Given the description of an element on the screen output the (x, y) to click on. 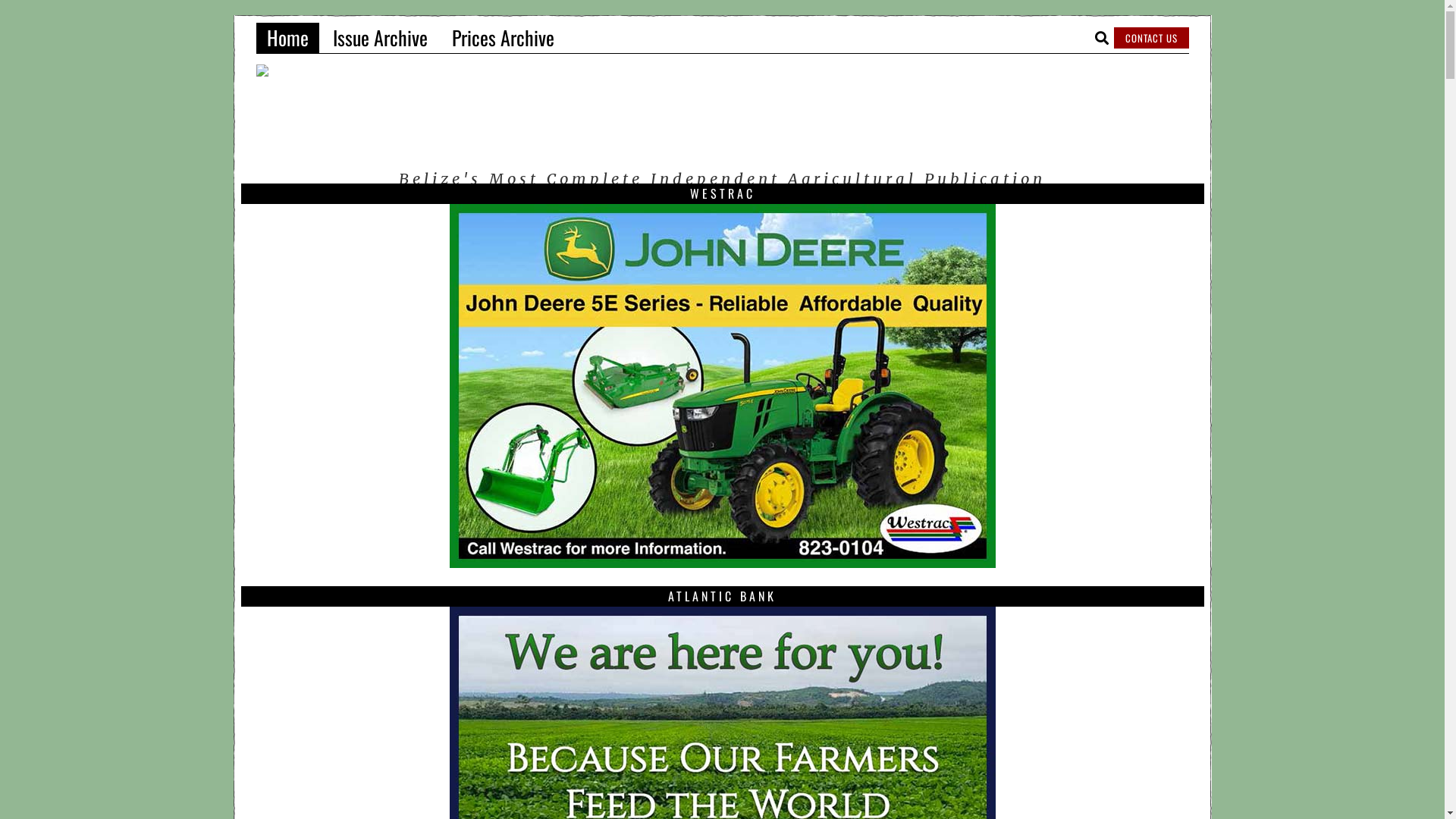
Issue Archive Element type: text (379, 37)
Prices Archive Element type: text (502, 37)
CONTACT US Element type: text (1150, 37)
Home Element type: text (287, 37)
